Given the description of an element on the screen output the (x, y) to click on. 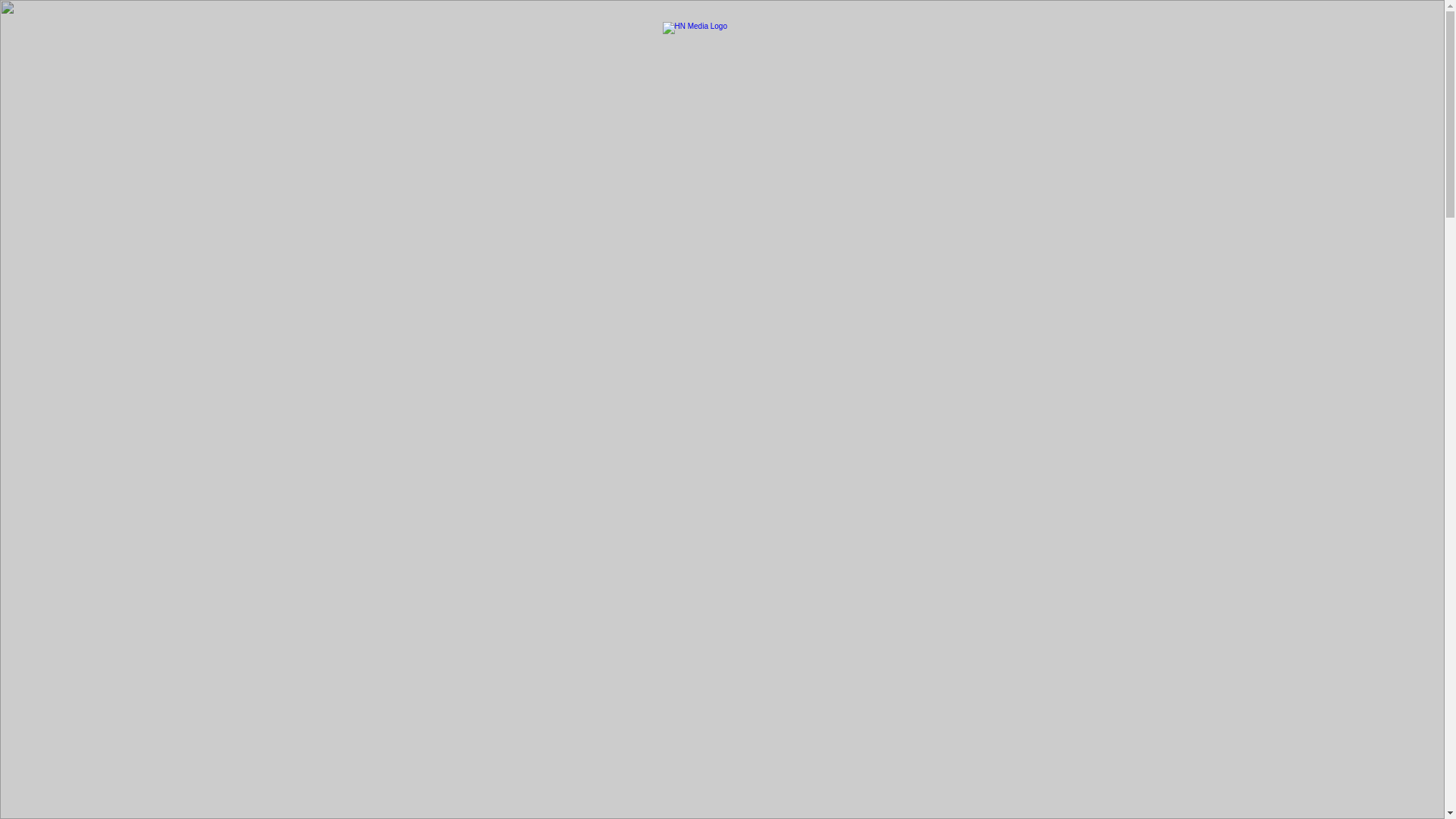
HN Media Logo Element type: hover (721, 37)
